Given the description of an element on the screen output the (x, y) to click on. 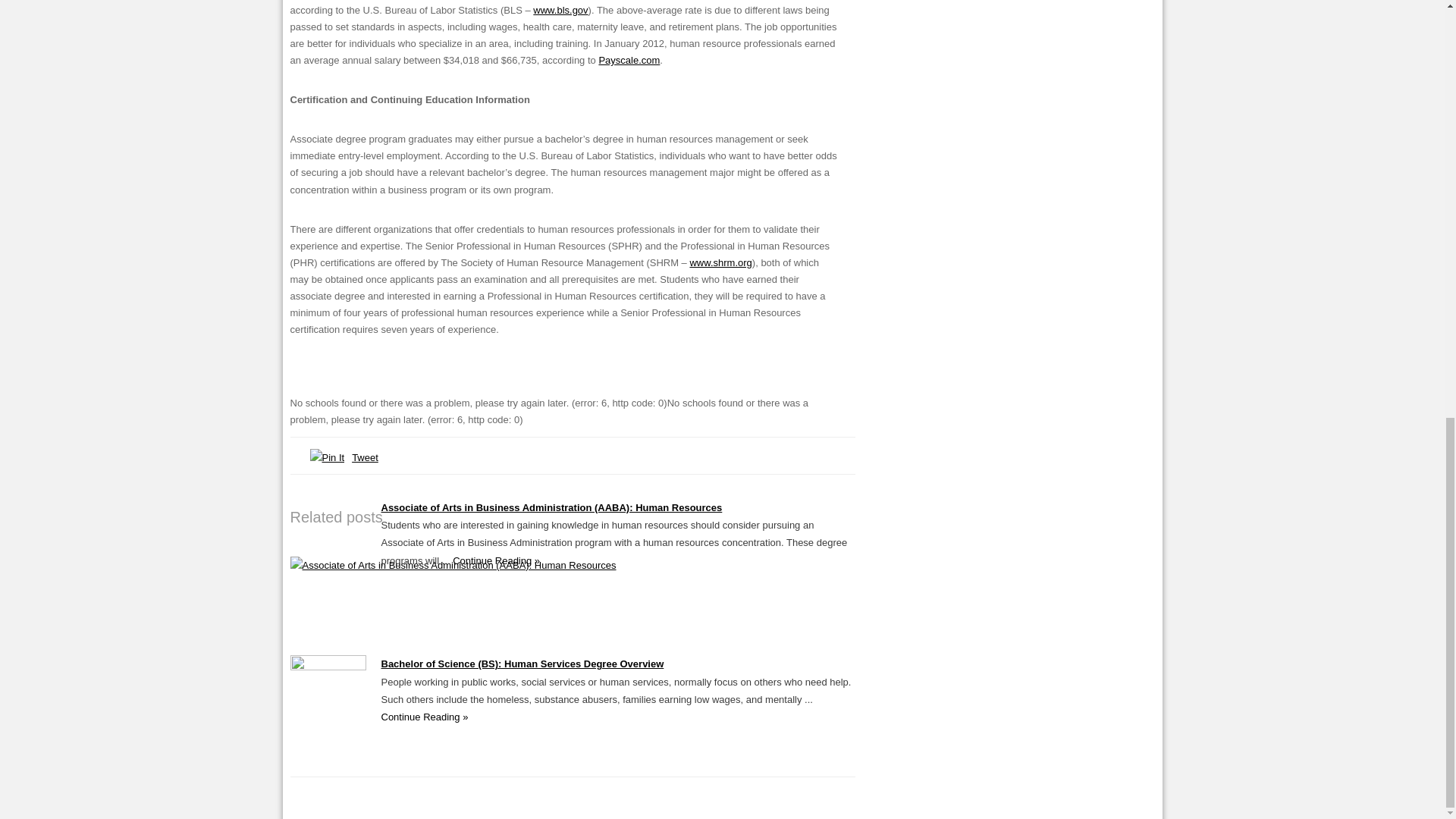
Pin It (325, 457)
www.shrm.org (719, 262)
www.bls.gov (560, 9)
Tweet (365, 457)
Payscale.com (628, 60)
